Given the description of an element on the screen output the (x, y) to click on. 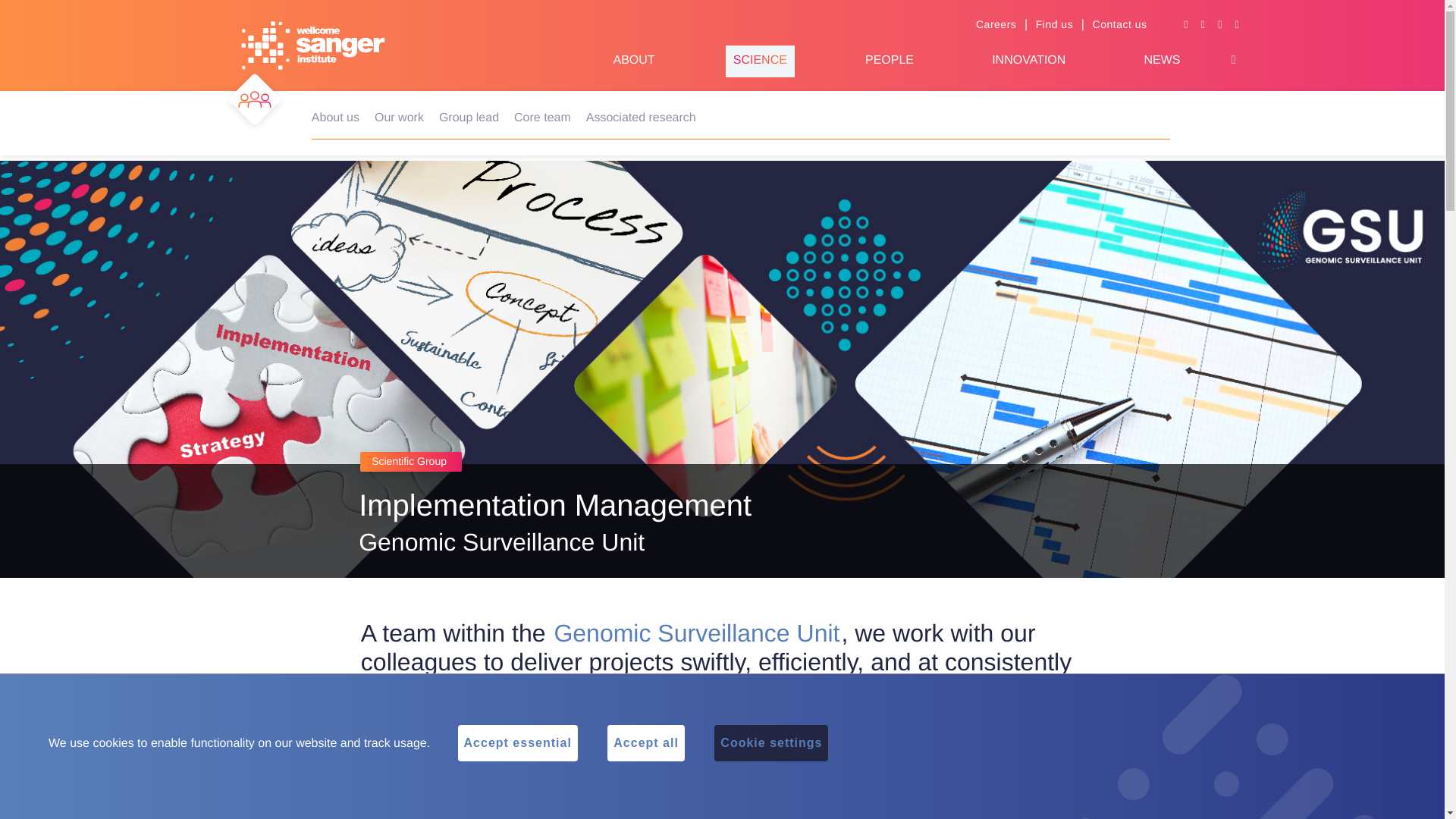
Contact us (1119, 24)
Careers (995, 24)
SCIENCE (760, 60)
Accept essential (518, 742)
innovation (1028, 60)
ABOUT (632, 60)
Accept all (645, 742)
Cookie settings (771, 742)
Find us (1053, 24)
Wellcome Sanger Institute (313, 45)
science (760, 60)
news (1160, 60)
PEOPLE (889, 60)
Search (1233, 60)
